Given the description of an element on the screen output the (x, y) to click on. 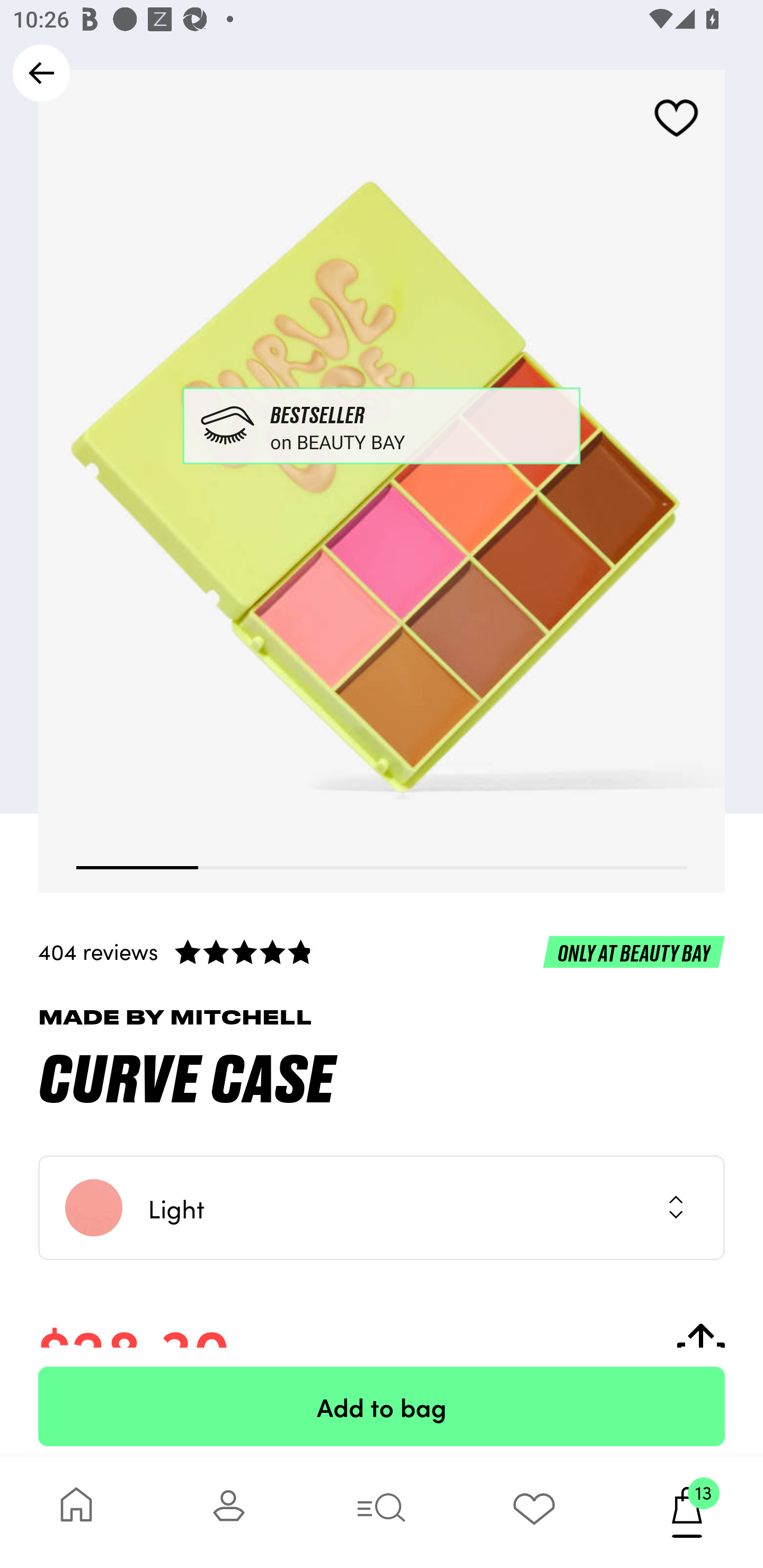
404 reviews (381, 950)
Light  (381, 1207)
Add to bag (381, 1406)
13 (686, 1512)
